Given the description of an element on the screen output the (x, y) to click on. 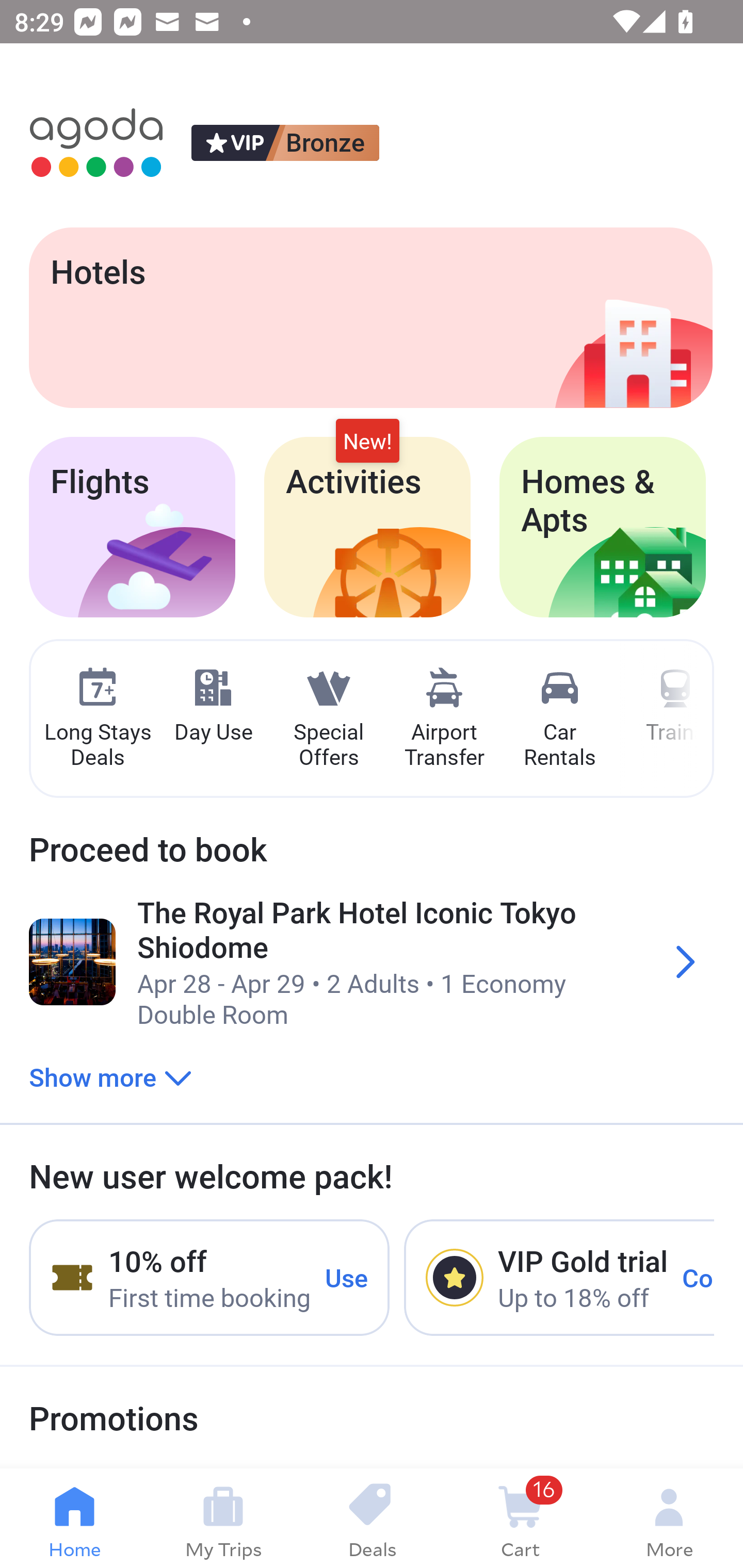
Hotels (370, 317)
New! (367, 441)
Flights (131, 527)
Activities (367, 527)
Homes & Apts (602, 527)
Day Use (213, 706)
Long Stays Deals (97, 718)
Special Offers (328, 718)
Airport Transfer (444, 718)
Car Rentals (559, 718)
Show more (110, 1076)
Use (346, 1277)
Home (74, 1518)
My Trips (222, 1518)
Deals (371, 1518)
16 Cart (519, 1518)
More (668, 1518)
